Given the description of an element on the screen output the (x, y) to click on. 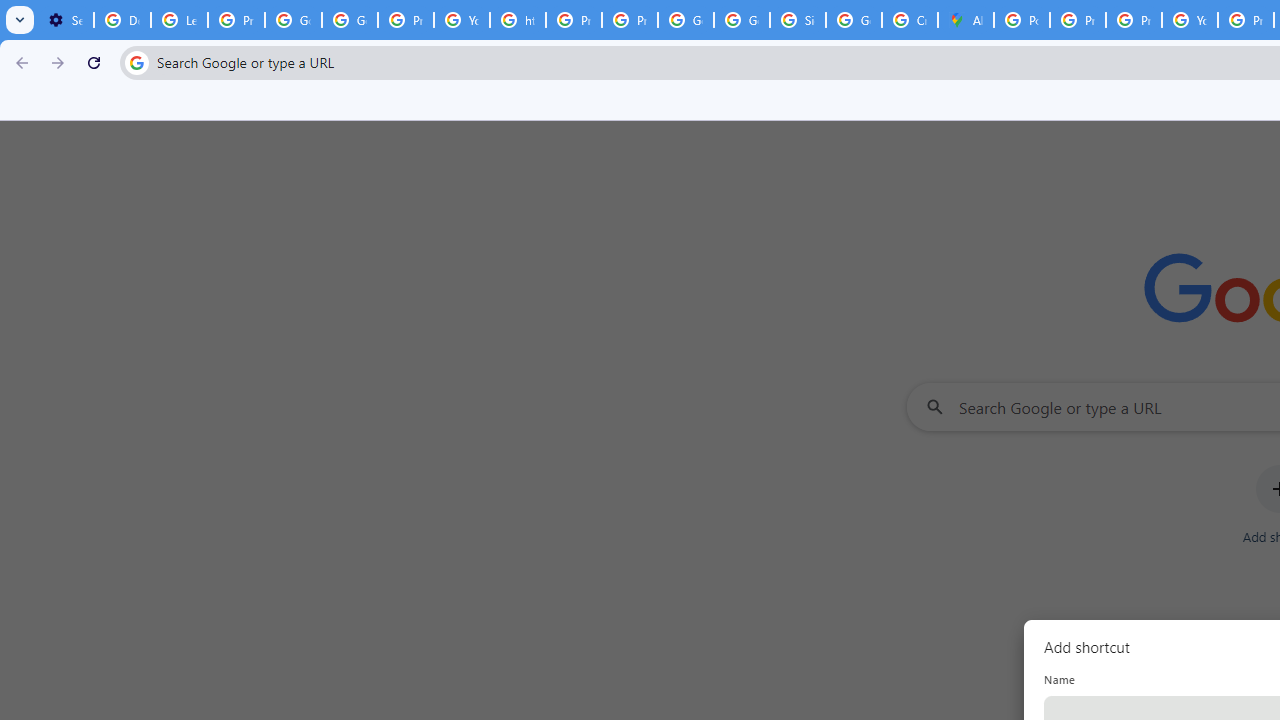
Privacy Help Center - Policies Help (573, 20)
Privacy Help Center - Policies Help (1133, 20)
Create your Google Account (909, 20)
Sign in - Google Accounts (797, 20)
